Given the description of an element on the screen output the (x, y) to click on. 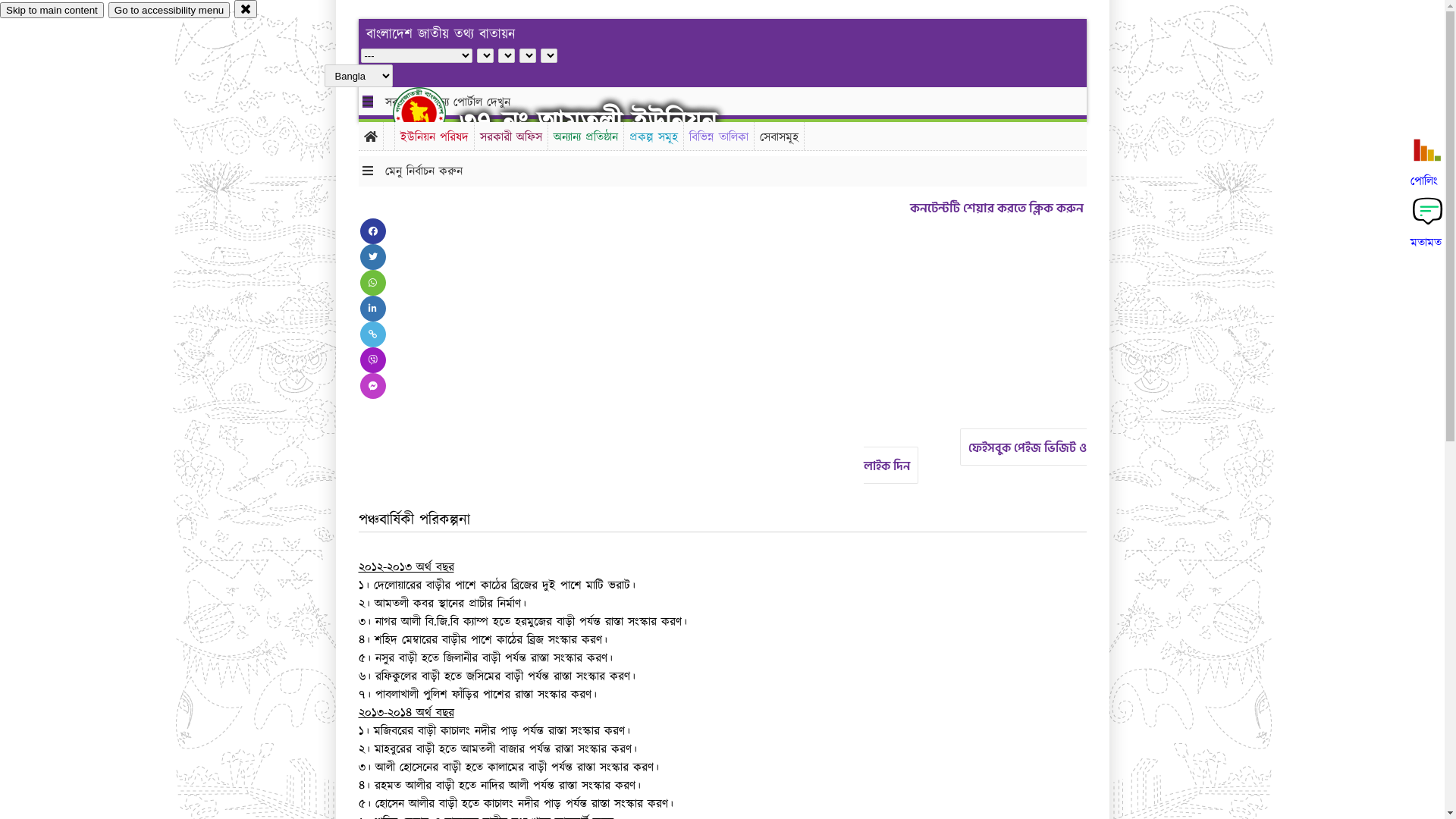
Go to accessibility menu Element type: text (168, 10)

                
             Element type: hover (431, 112)
close Element type: hover (245, 9)
Skip to main content Element type: text (51, 10)
